Given the description of an element on the screen output the (x, y) to click on. 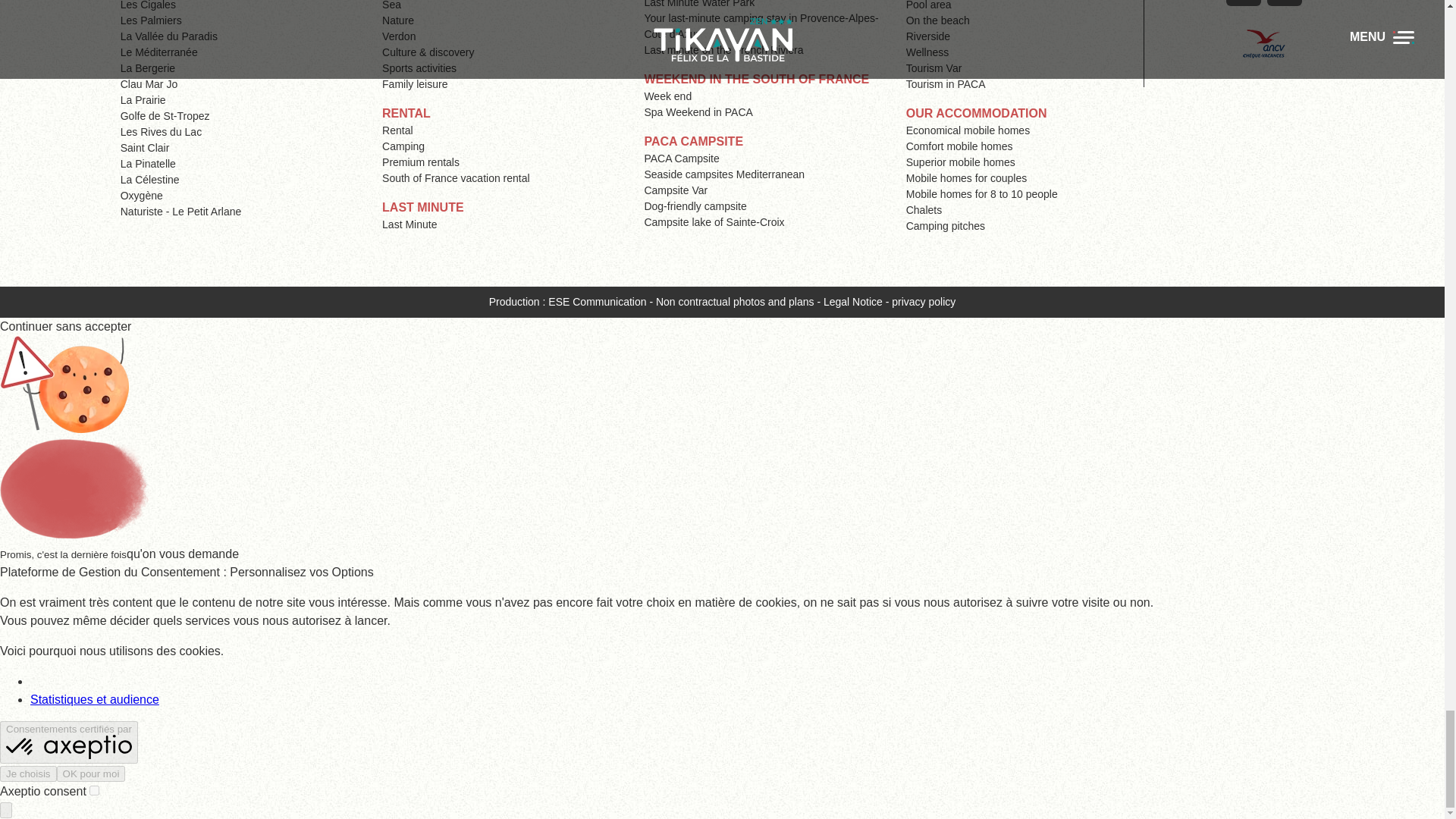
Visa (1242, 2)
MasterCard (1283, 2)
